Given the description of an element on the screen output the (x, y) to click on. 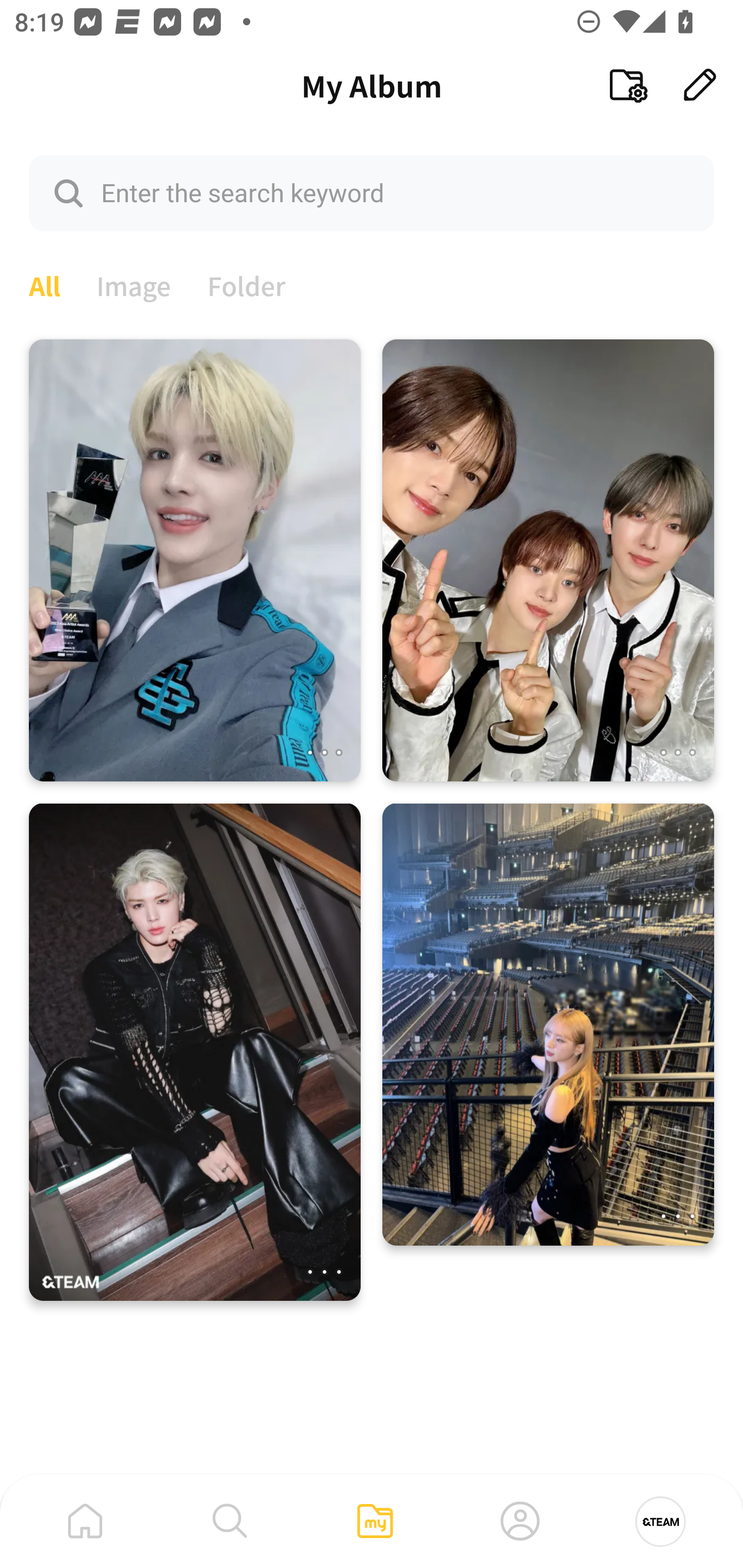
Enter the search keyword (371, 192)
All (44, 284)
Image (133, 284)
Folder (246, 284)
